Given the description of an element on the screen output the (x, y) to click on. 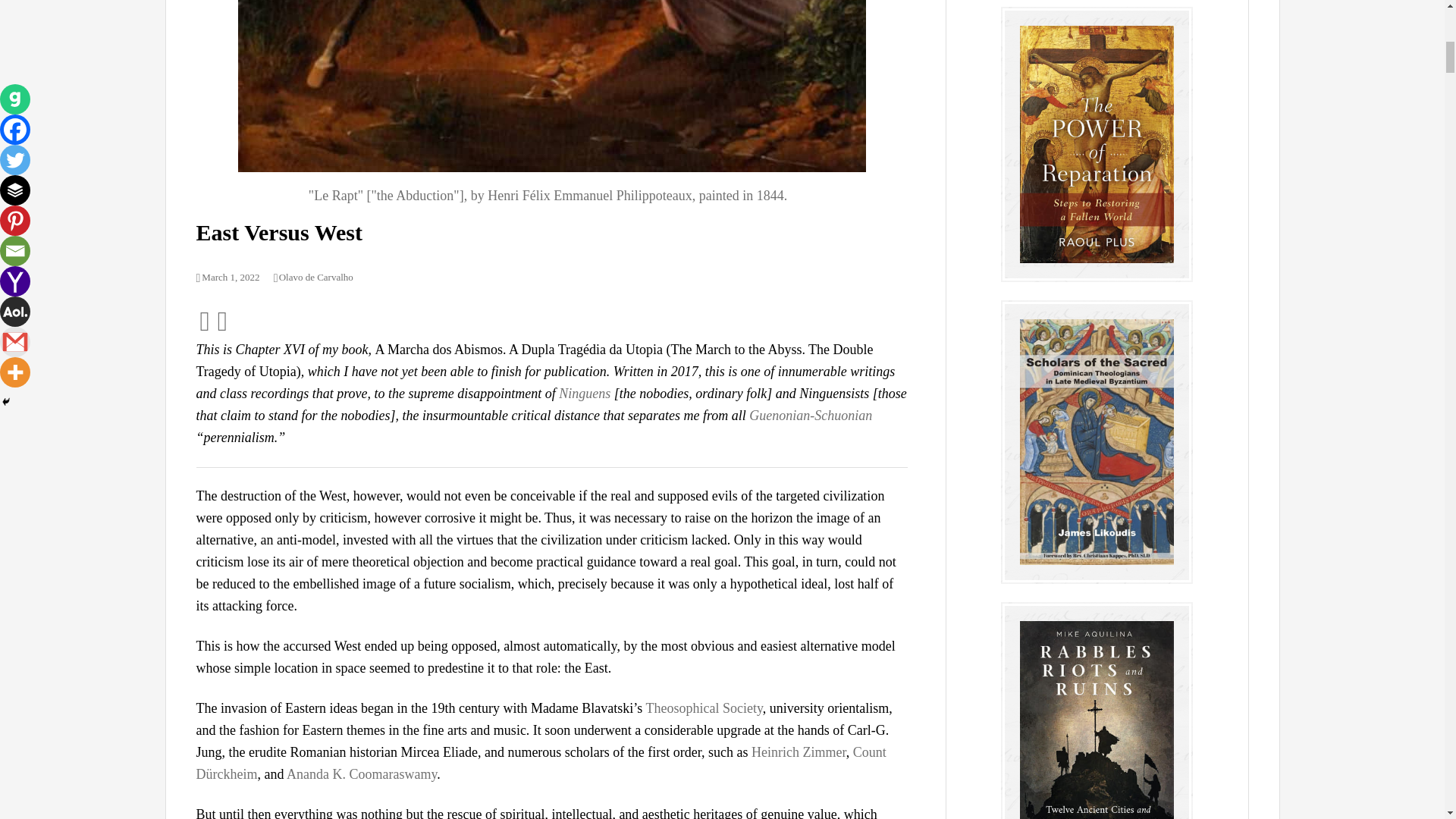
12:00 am (227, 276)
Ninguens (584, 393)
Olavo de Carvalho (313, 276)
Theosophical Society (704, 708)
March 1, 2022 (227, 276)
View all posts by Olavo de Carvalho (313, 276)
Ananda K. Coomaraswamy (361, 774)
Guenonian-Schuonian (810, 415)
Heinrich Zimmer (798, 752)
